Given the description of an element on the screen output the (x, y) to click on. 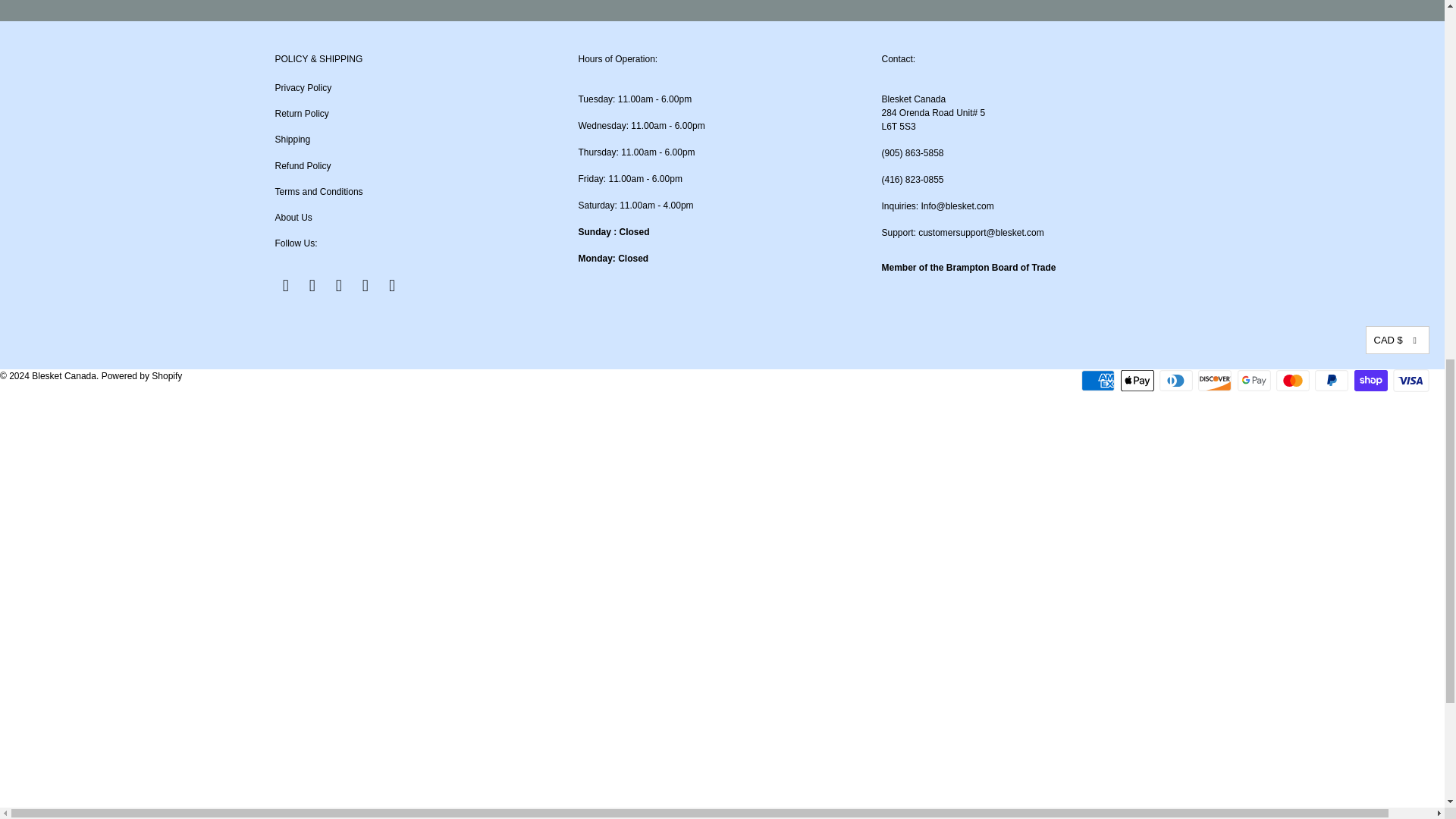
Blesket Canada on Facebook (286, 285)
Blesket Canada on YouTube (312, 285)
Diners Club (1176, 380)
Apple Pay (1139, 380)
PayPal (1332, 380)
Google Pay (1255, 380)
Blesket Canada on Instagram (366, 285)
Blesket Canada on Pinterest (339, 285)
Visa (1411, 380)
Email Blesket Canada (392, 285)
Discover (1216, 380)
Shop Pay (1372, 380)
Mastercard (1294, 380)
American Express (1099, 380)
